Given the description of an element on the screen output the (x, y) to click on. 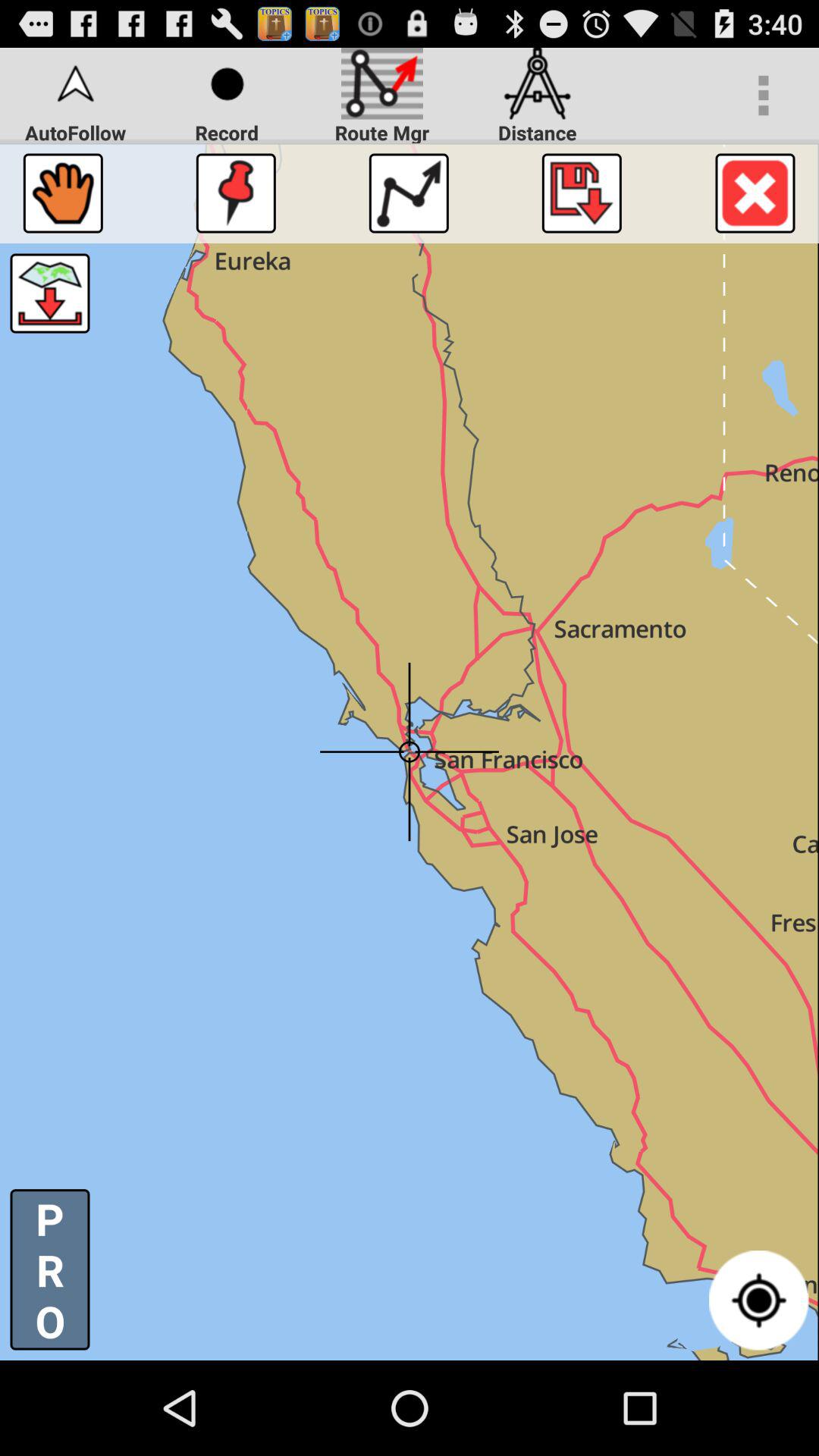
save map (581, 193)
